Given the description of an element on the screen output the (x, y) to click on. 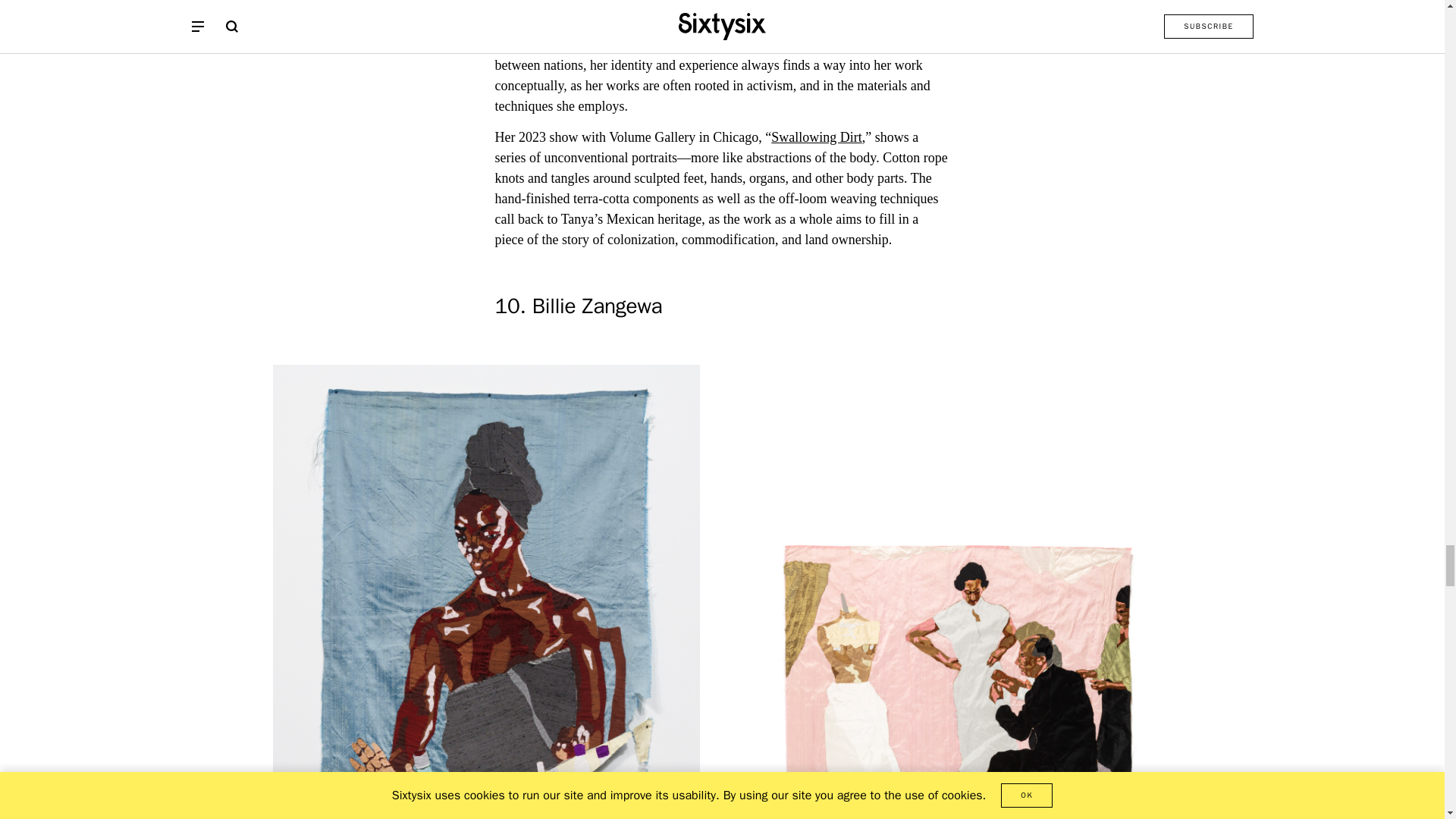
Swallowing Dirt (816, 136)
